Given the description of an element on the screen output the (x, y) to click on. 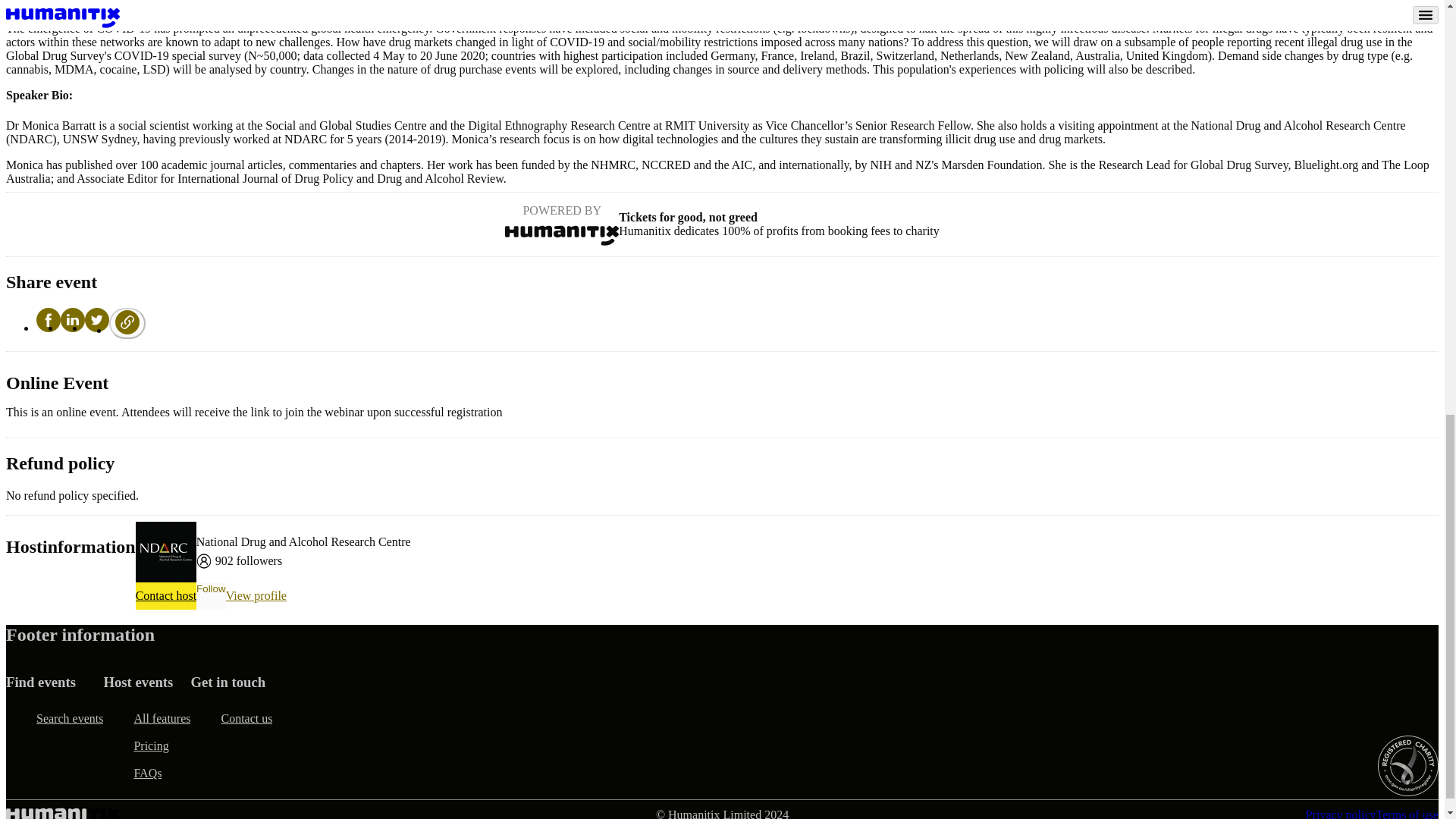
Follow (210, 595)
FAQs (147, 773)
View profile (255, 595)
Contact host (165, 595)
All features (161, 718)
Pricing (150, 746)
Search events (69, 718)
Contact us (246, 718)
